Given the description of an element on the screen output the (x, y) to click on. 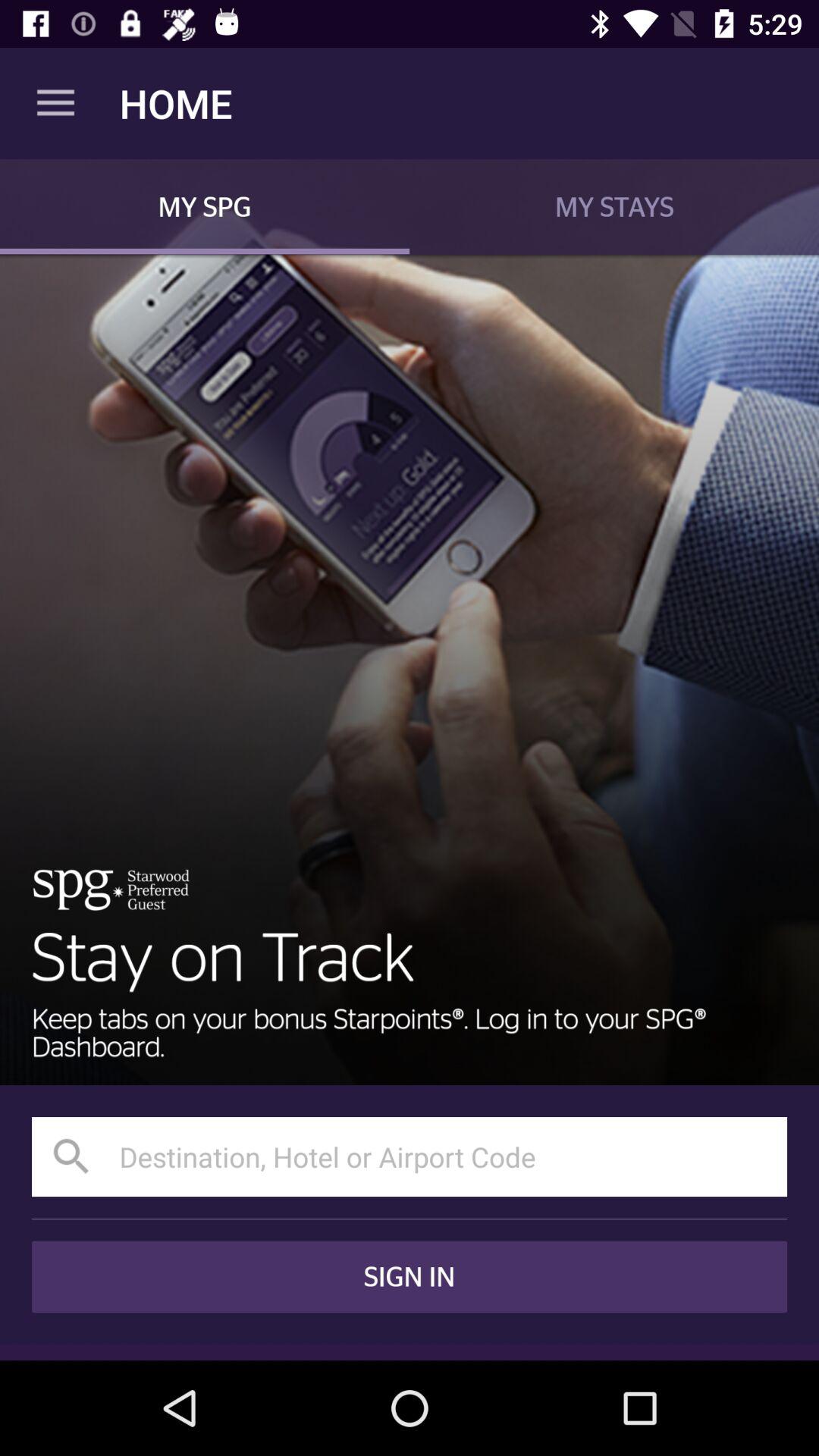
swipe until the sign in item (409, 1276)
